Given the description of an element on the screen output the (x, y) to click on. 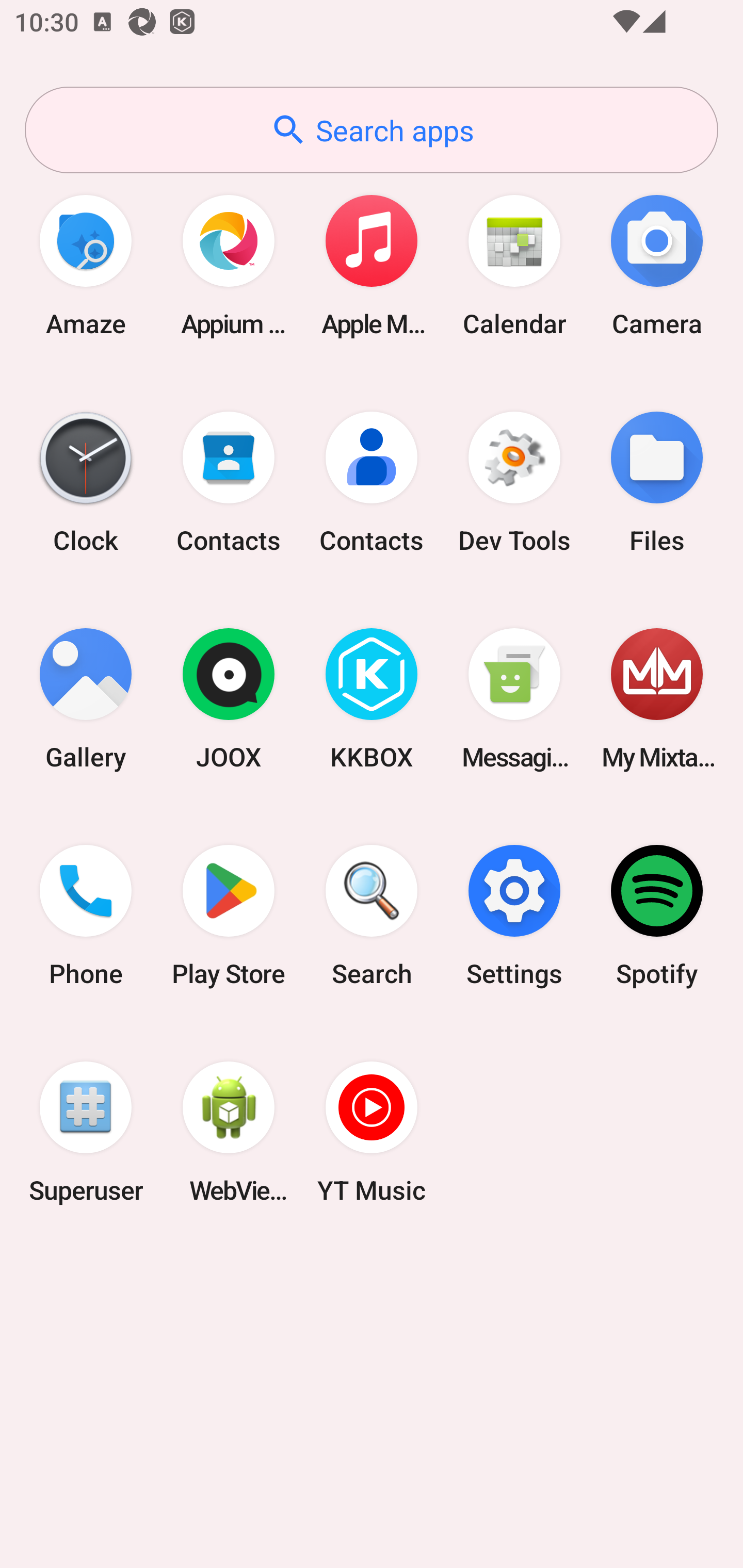
  Search apps (371, 130)
Amaze (85, 264)
Appium Settings (228, 264)
Apple Music (371, 264)
Calendar (514, 264)
Camera (656, 264)
Clock (85, 482)
Contacts (228, 482)
Contacts (371, 482)
Dev Tools (514, 482)
Files (656, 482)
Gallery (85, 699)
JOOX (228, 699)
KKBOX (371, 699)
Messaging (514, 699)
My Mixtapez (656, 699)
Phone (85, 915)
Play Store (228, 915)
Search (371, 915)
Settings (514, 915)
Spotify (656, 915)
Superuser (85, 1131)
WebView Browser Tester (228, 1131)
YT Music (371, 1131)
